Given the description of an element on the screen output the (x, y) to click on. 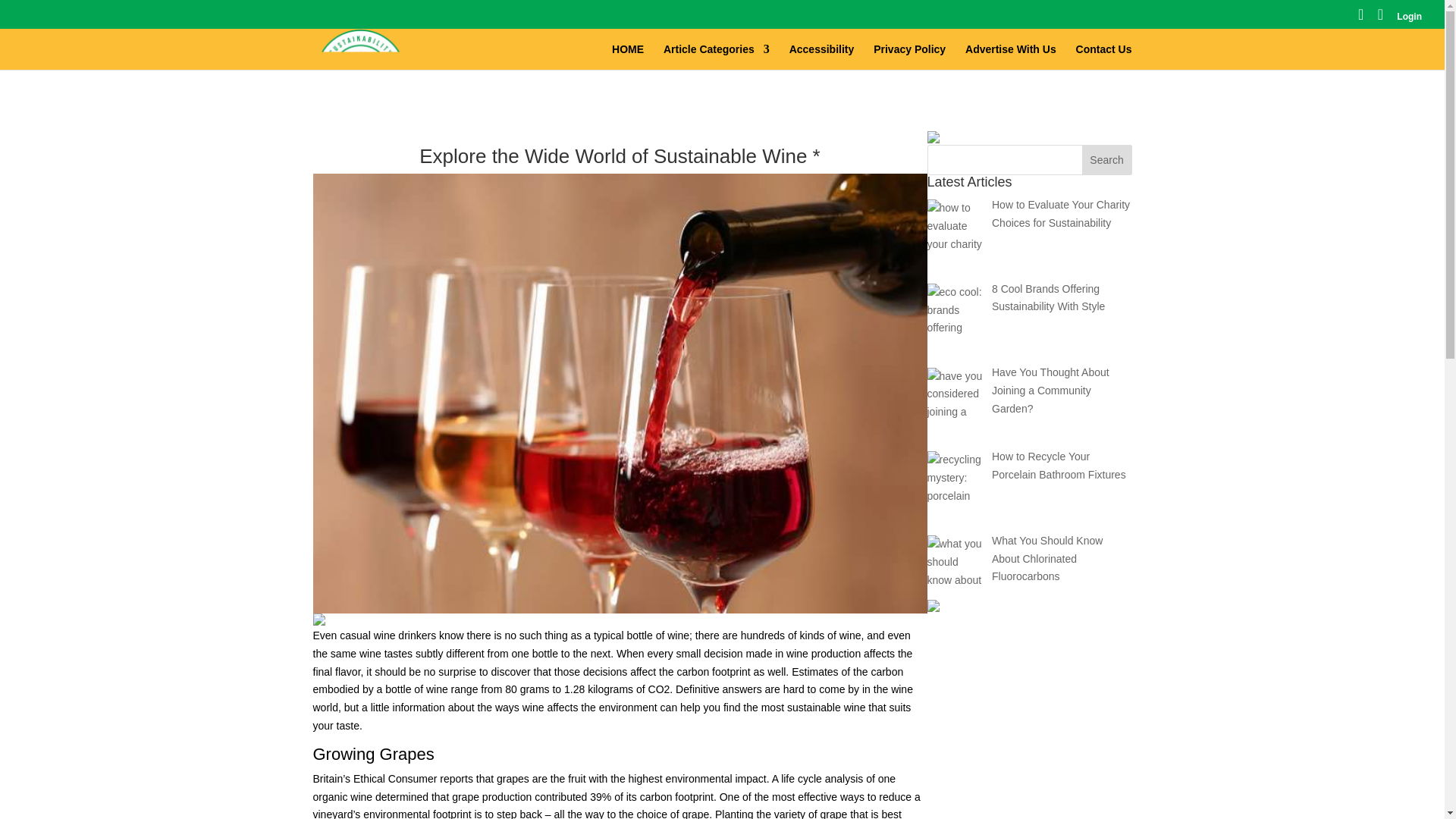
Advertise With Us (1011, 56)
Privacy Policy (908, 56)
Accessibility (821, 56)
80 grams (526, 689)
choice of grape (672, 813)
Ethical Consumer (395, 778)
hundreds (762, 635)
Contact Us (1103, 56)
Search (1106, 159)
